Given the description of an element on the screen output the (x, y) to click on. 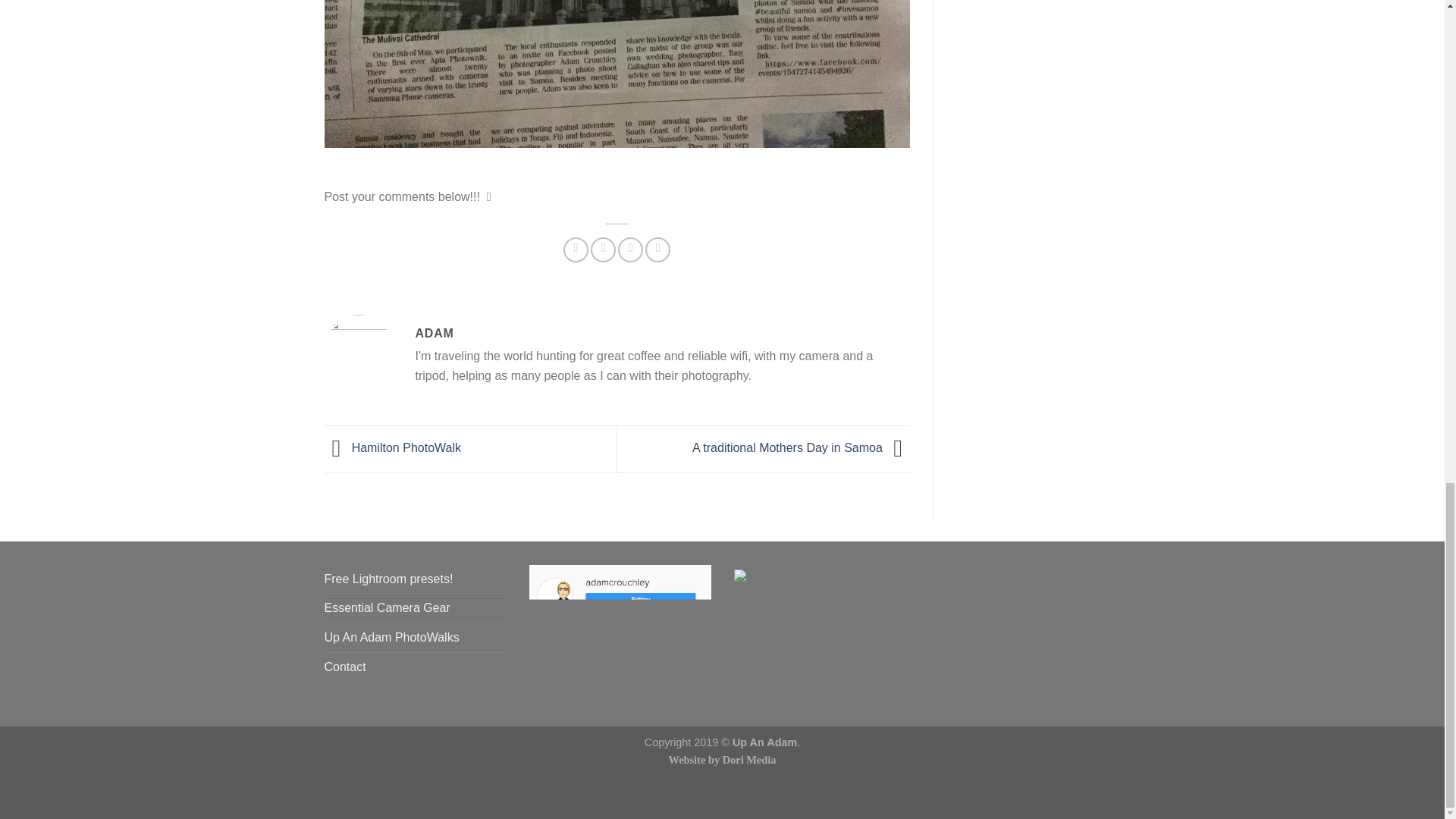
Up An Adam PhotoWalks (392, 637)
Essential Camera Gear (386, 607)
A traditional Mothers Day in Samoa (801, 448)
Free Lightroom presets! (388, 579)
Contact (345, 666)
Hamilton PhotoWalk (392, 448)
Website by Dori Media (722, 759)
